Given the description of an element on the screen output the (x, y) to click on. 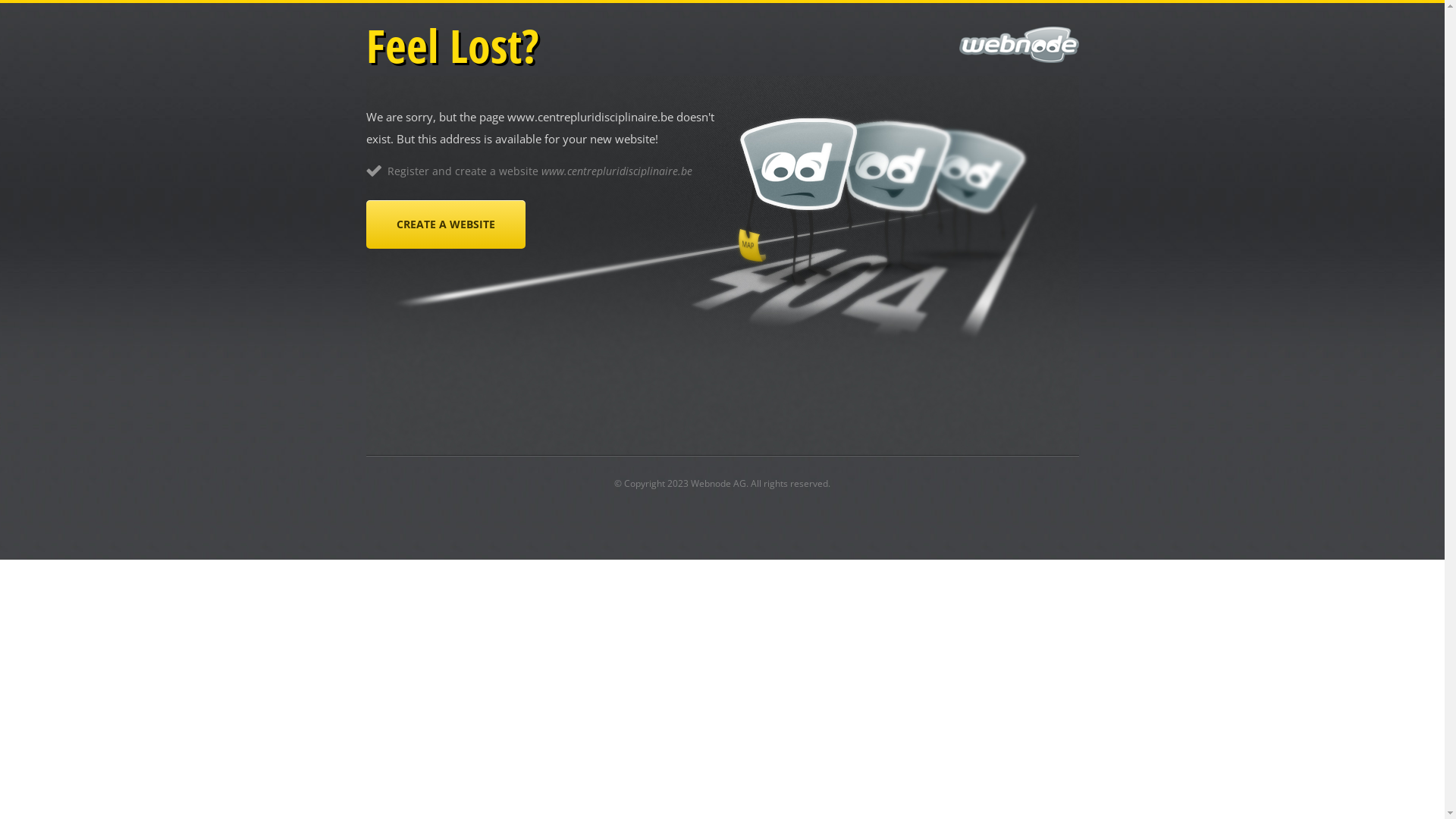
CREATE A WEBSITE Element type: text (444, 224)
Webnode AG Element type: text (718, 482)
